Given the description of an element on the screen output the (x, y) to click on. 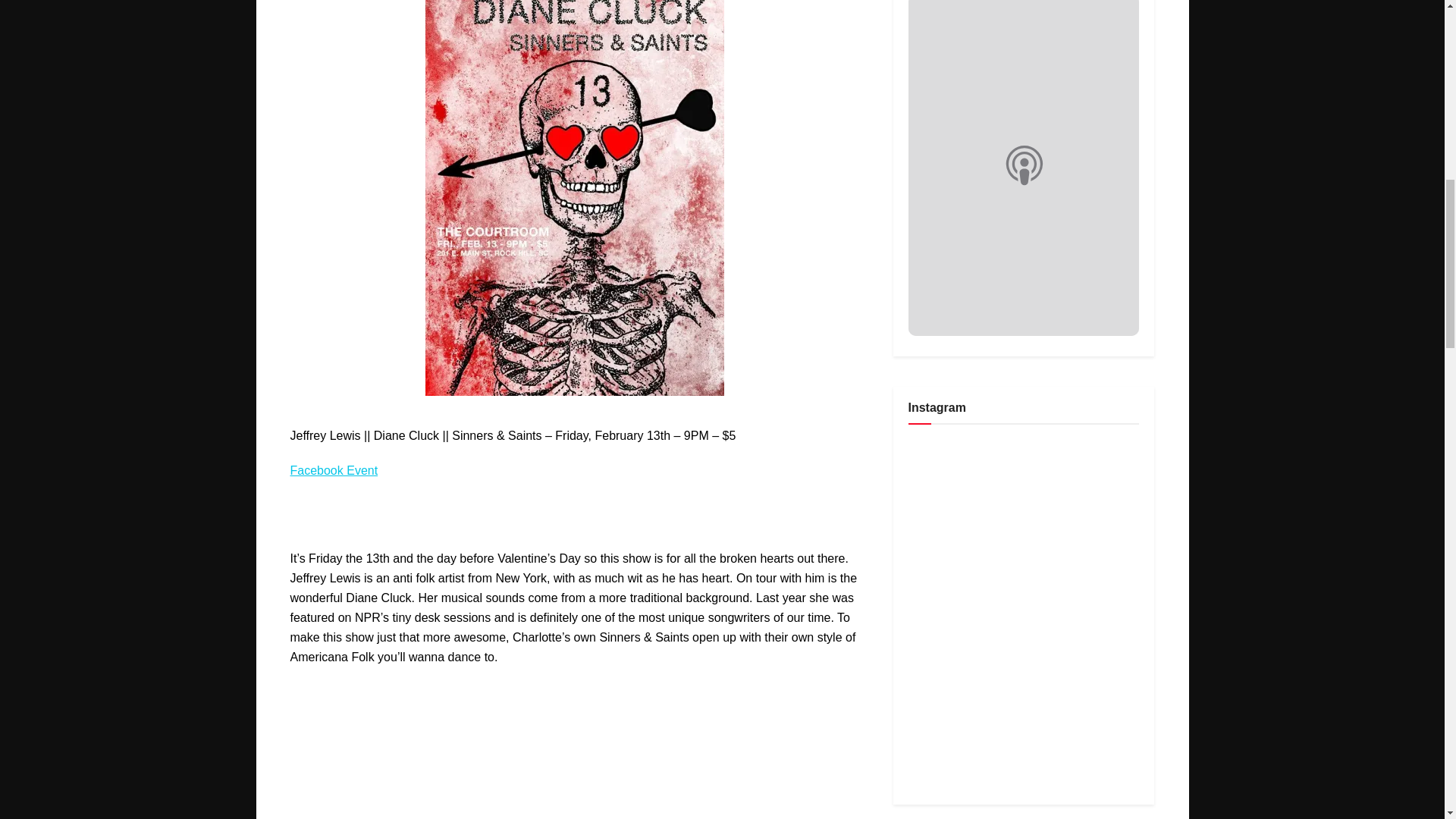
Facebook Event (333, 470)
